Given the description of an element on the screen output the (x, y) to click on. 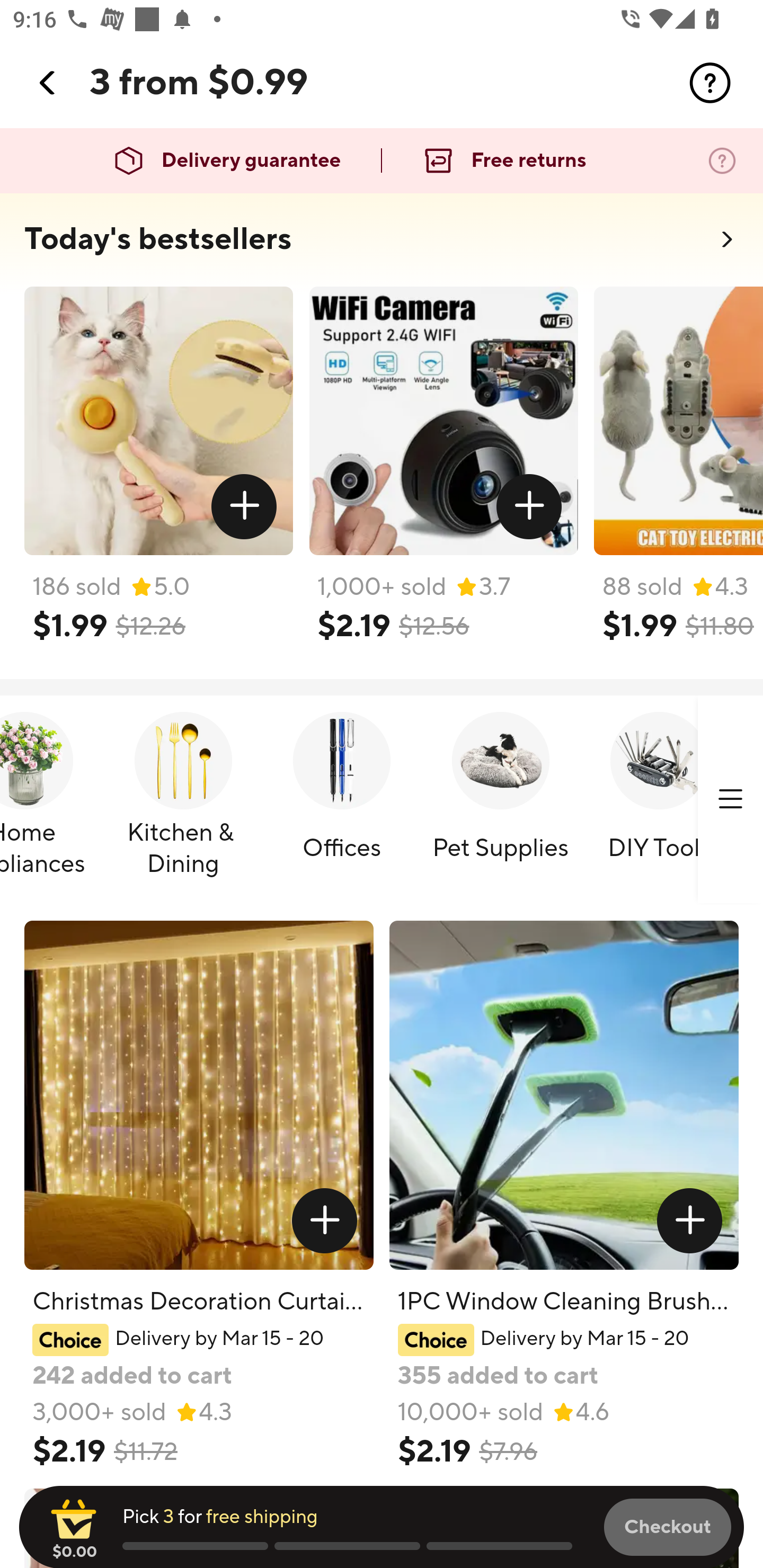
 (710, 82)
 (48, 82)
Today's bestsellers  Today's bestsellers  (381, 244)
Today's bestsellers (157, 239)
 (244, 506)
 (529, 506)
300x300.png_ Home Appliances (48, 800)
300x300.png_ Kitchen & Dining (183, 800)
300x300.png_ Offices (341, 800)
300x300.png_ Pet Supplies (500, 800)
300x300.png_ DIY Tools (658, 800)
 (323, 1220)
 (689, 1220)
